Given the description of an element on the screen output the (x, y) to click on. 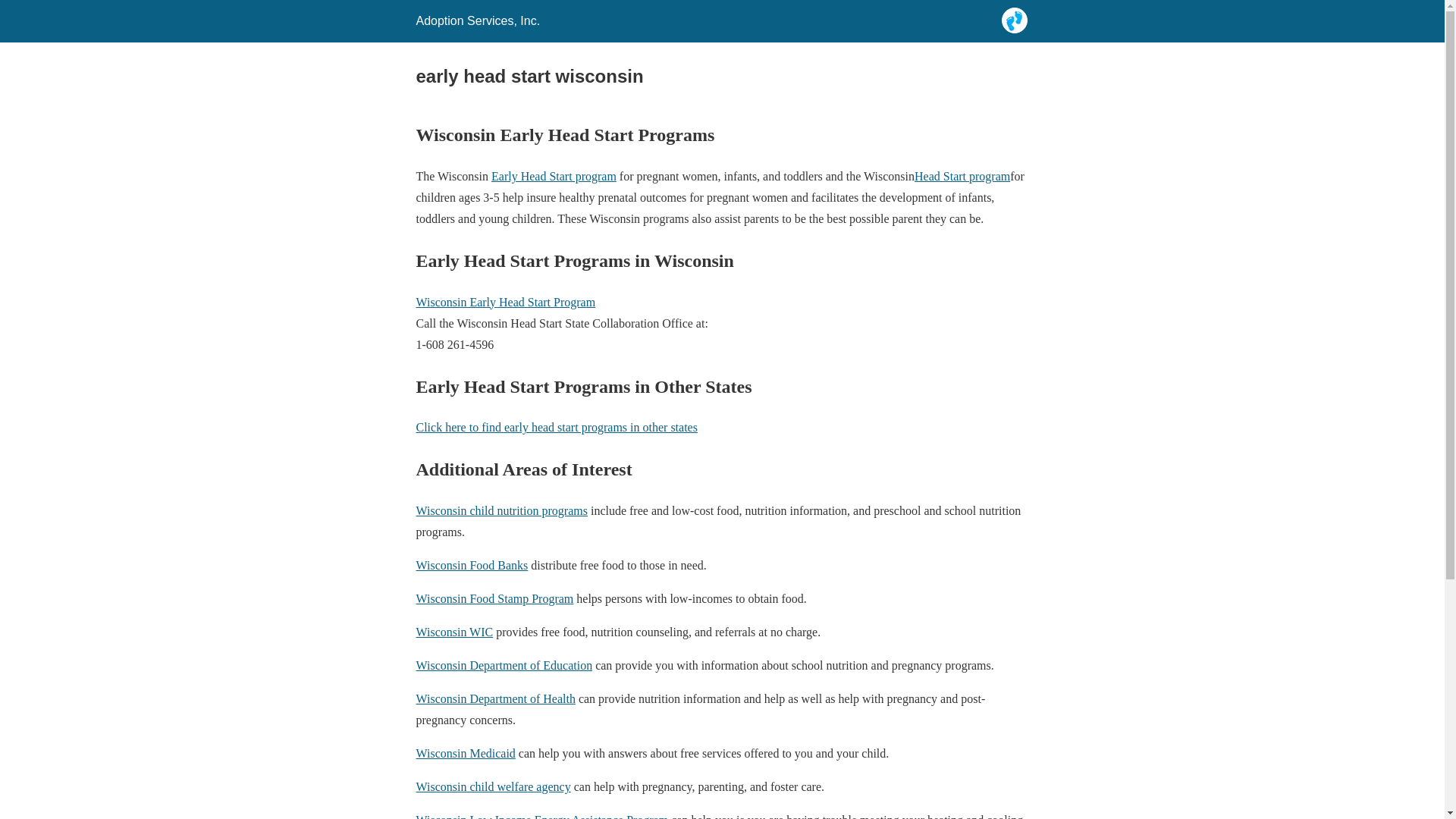
Adoption Services, Inc. (477, 20)
Wisconsin Medicaid (464, 753)
Wisconsin Department of Education (503, 665)
Wisconsin Food Banks (470, 564)
Wisconsin Early Head Start Program (504, 301)
Click here to find early head start programs in other states (555, 427)
Head Start program (962, 175)
Early Head Start program (553, 175)
Wisconsin WIC (453, 631)
Wisconsin Low Income Energy Assistance Program (541, 816)
